Given the description of an element on the screen output the (x, y) to click on. 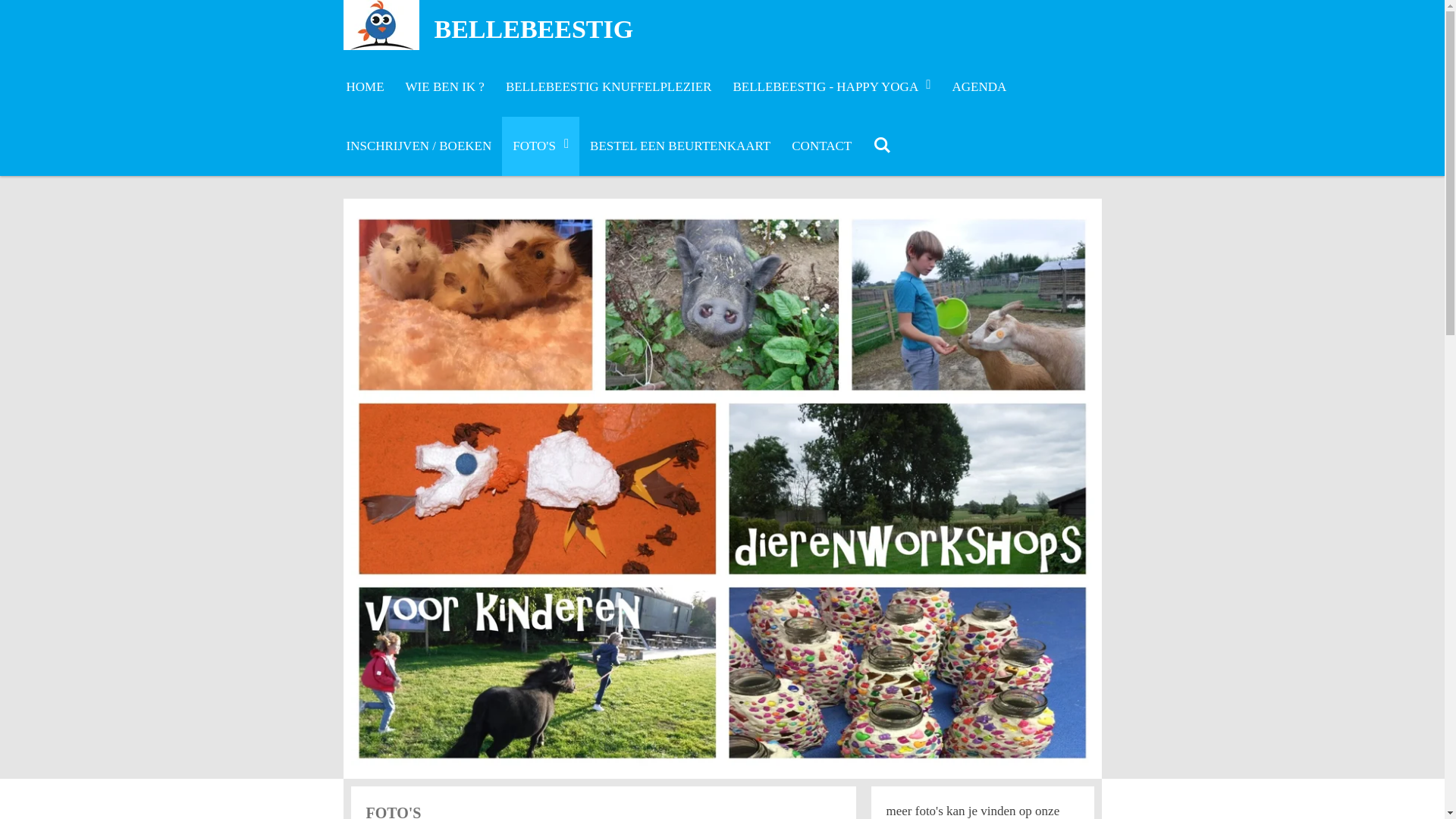
FOTO'S Element type: text (540, 145)
BESTEL EEN BEURTENKAART Element type: text (680, 145)
HOME Element type: text (364, 86)
BELLEBEESTIG KNUFFELPLEZIER Element type: text (608, 86)
Bellebeestig Element type: hover (380, 25)
CONTACT Element type: text (821, 145)
WIE BEN IK ? Element type: text (445, 86)
Zoeken Element type: hover (881, 145)
INSCHRIJVEN / BOEKEN Element type: text (418, 145)
AGENDA Element type: text (979, 86)
BELLEBEESTIG Element type: text (533, 29)
BELLEBEESTIG - HAPPY YOGA Element type: text (831, 86)
